Given the description of an element on the screen output the (x, y) to click on. 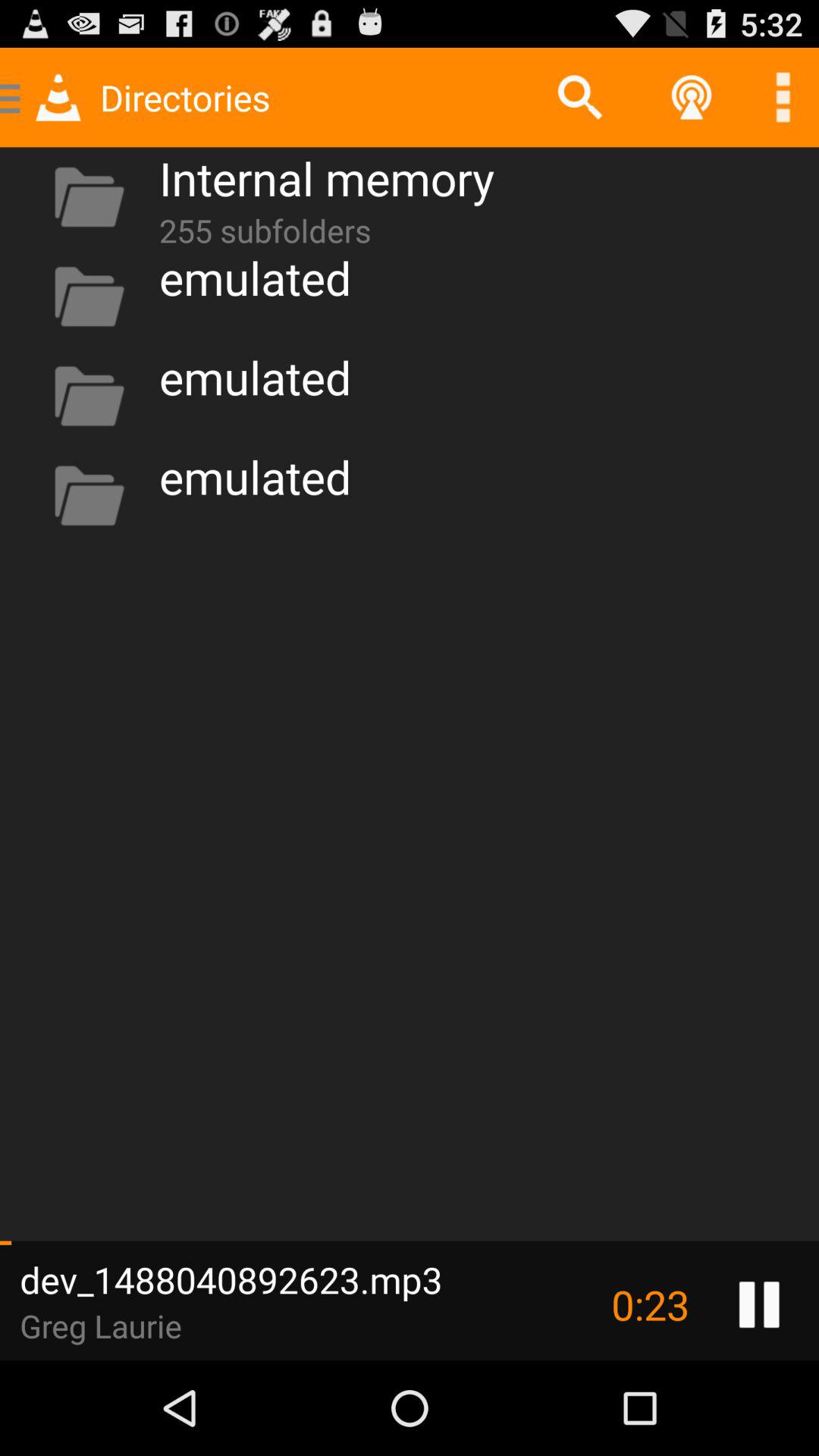
click the item to the right of the dev_1488040892623.mp3 (650, 1304)
